Given the description of an element on the screen output the (x, y) to click on. 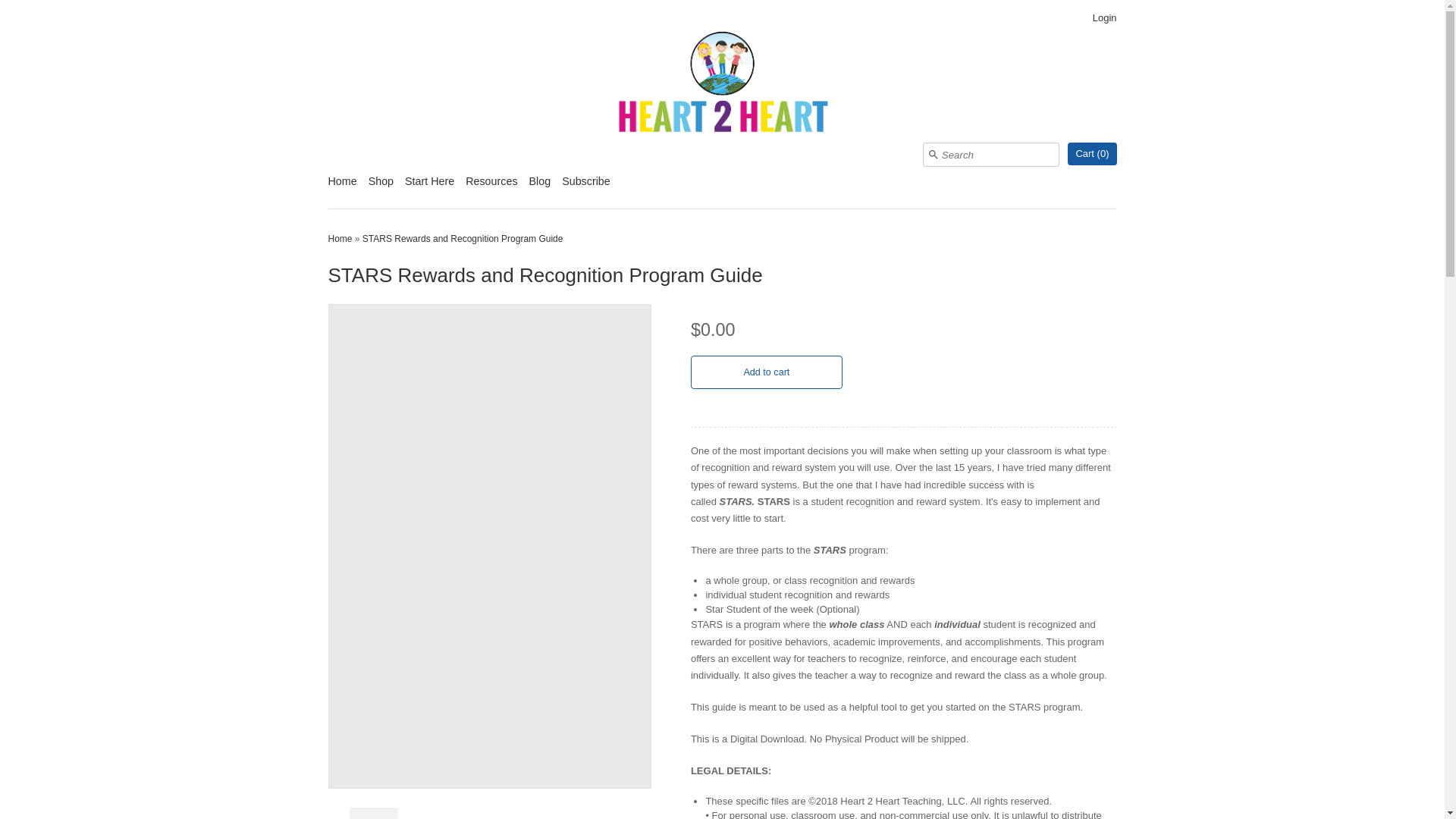
Heart 2 Heart Teaching (721, 84)
Home (339, 238)
STARS Rewards and Recognition Program Guide (373, 813)
STARS Rewards and Recognition Program Guide (462, 238)
Home (341, 186)
Resources (490, 186)
Start Here (429, 186)
Search (933, 154)
Search (933, 154)
Subscribe (586, 186)
Login (1104, 17)
Blog (540, 186)
Add to cart (766, 372)
Shop (380, 186)
Home (339, 238)
